Given the description of an element on the screen output the (x, y) to click on. 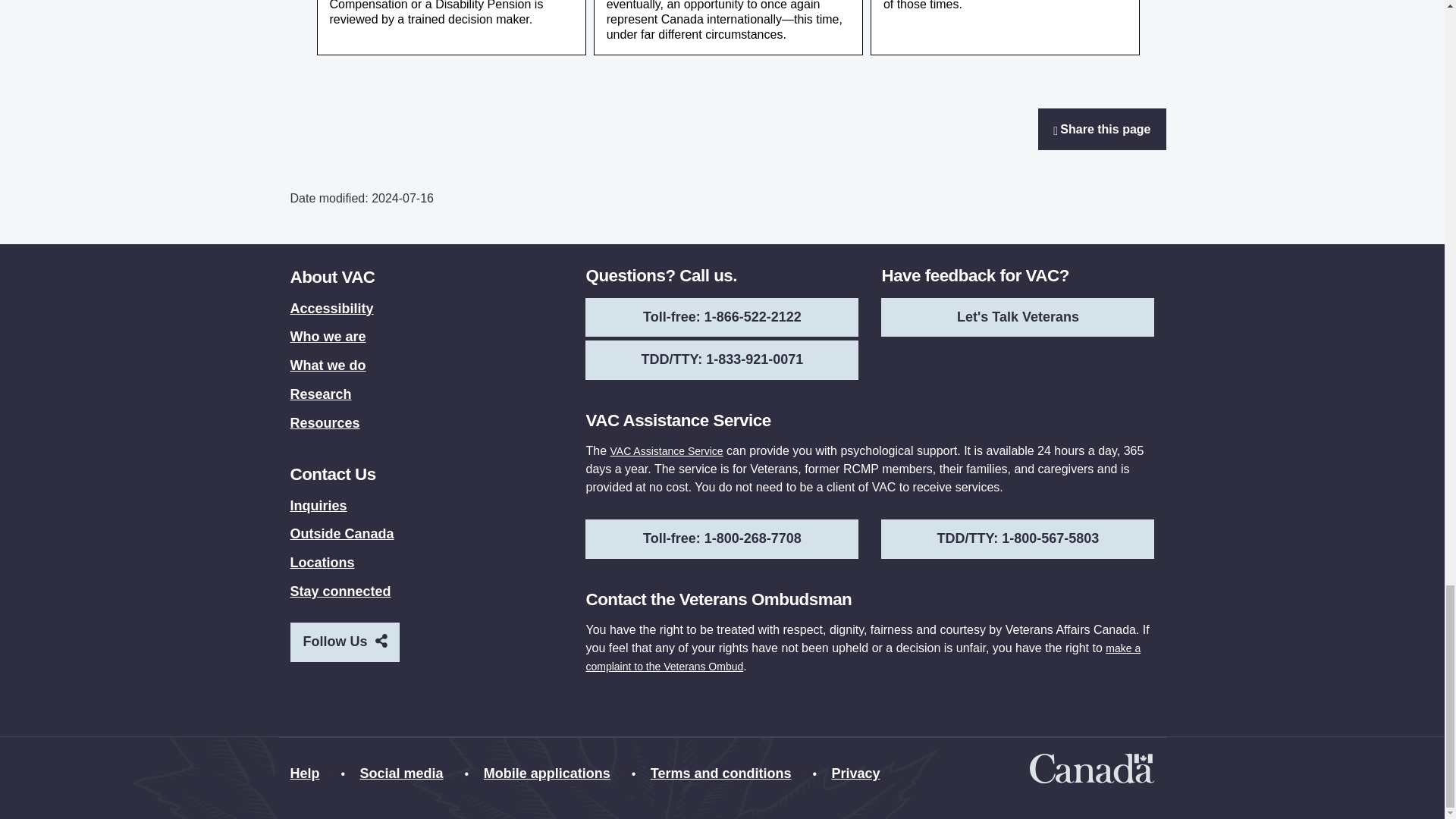
Follow Us (379, 640)
